Given the description of an element on the screen output the (x, y) to click on. 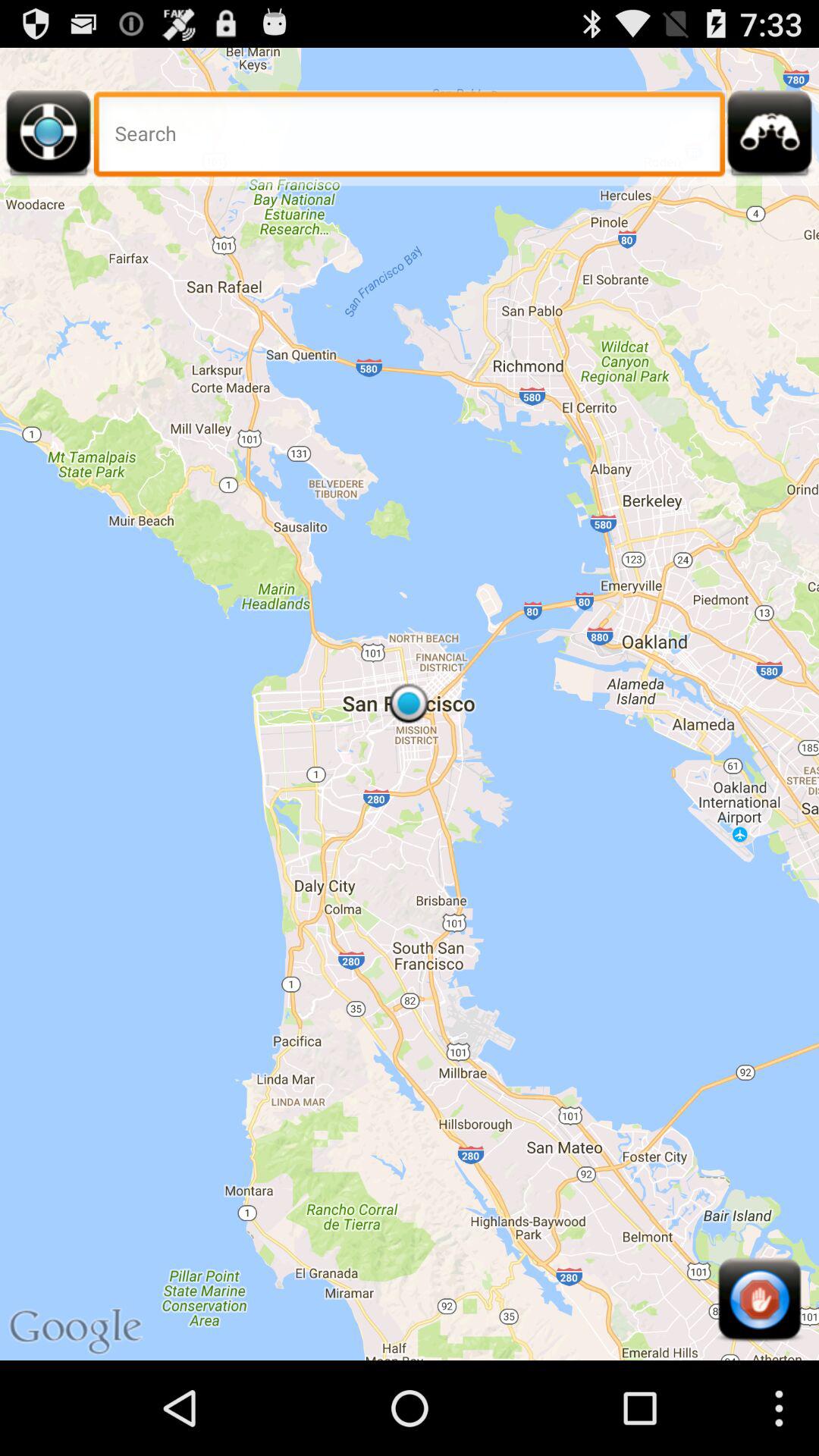
search bar (409, 137)
